Given the description of an element on the screen output the (x, y) to click on. 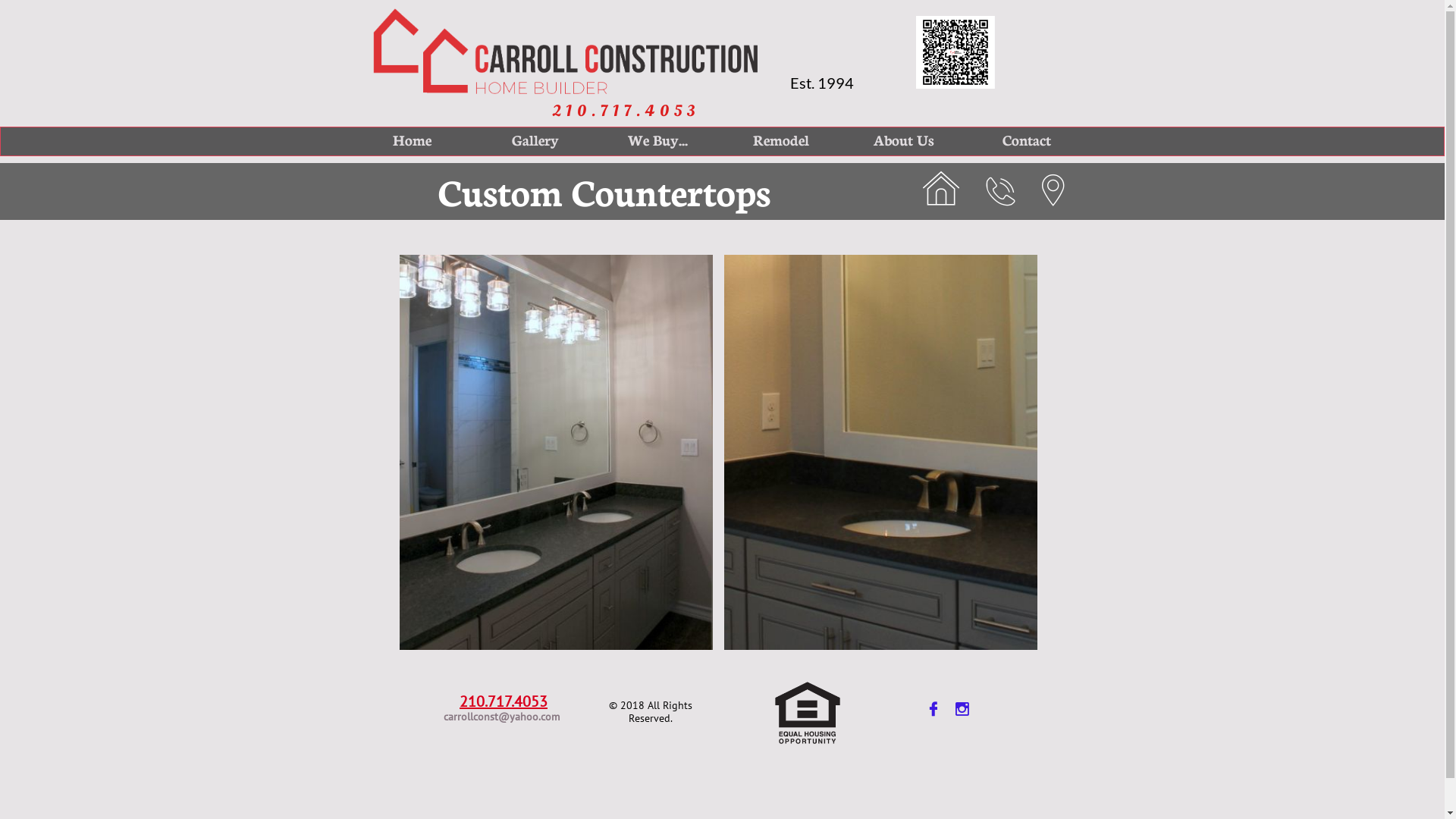
Remodel Element type: text (780, 139)
Contact Element type: text (1025, 139)
Home Element type: text (411, 139)
Gallery Element type: text (534, 139)
carrollconst@yahoo.com Element type: text (501, 716)
We Buy... Element type: text (657, 139)
About Us Element type: text (903, 139)
210.717.4053 Element type: text (626, 111)
210.717.4053 Element type: text (503, 701)
